Given the description of an element on the screen output the (x, y) to click on. 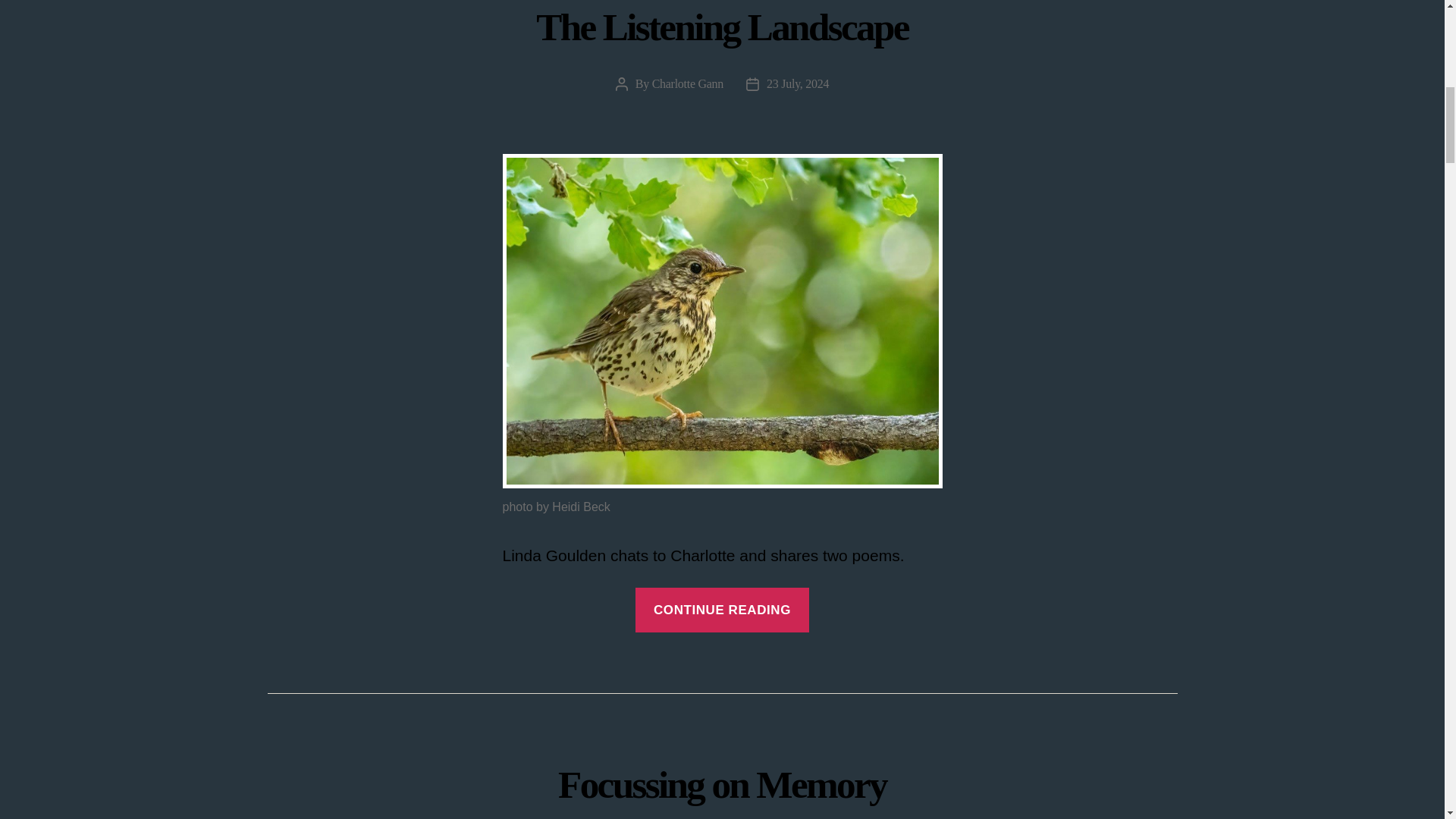
The Listening Landscape (721, 26)
Focussing on Memory (721, 783)
